Given the description of an element on the screen output the (x, y) to click on. 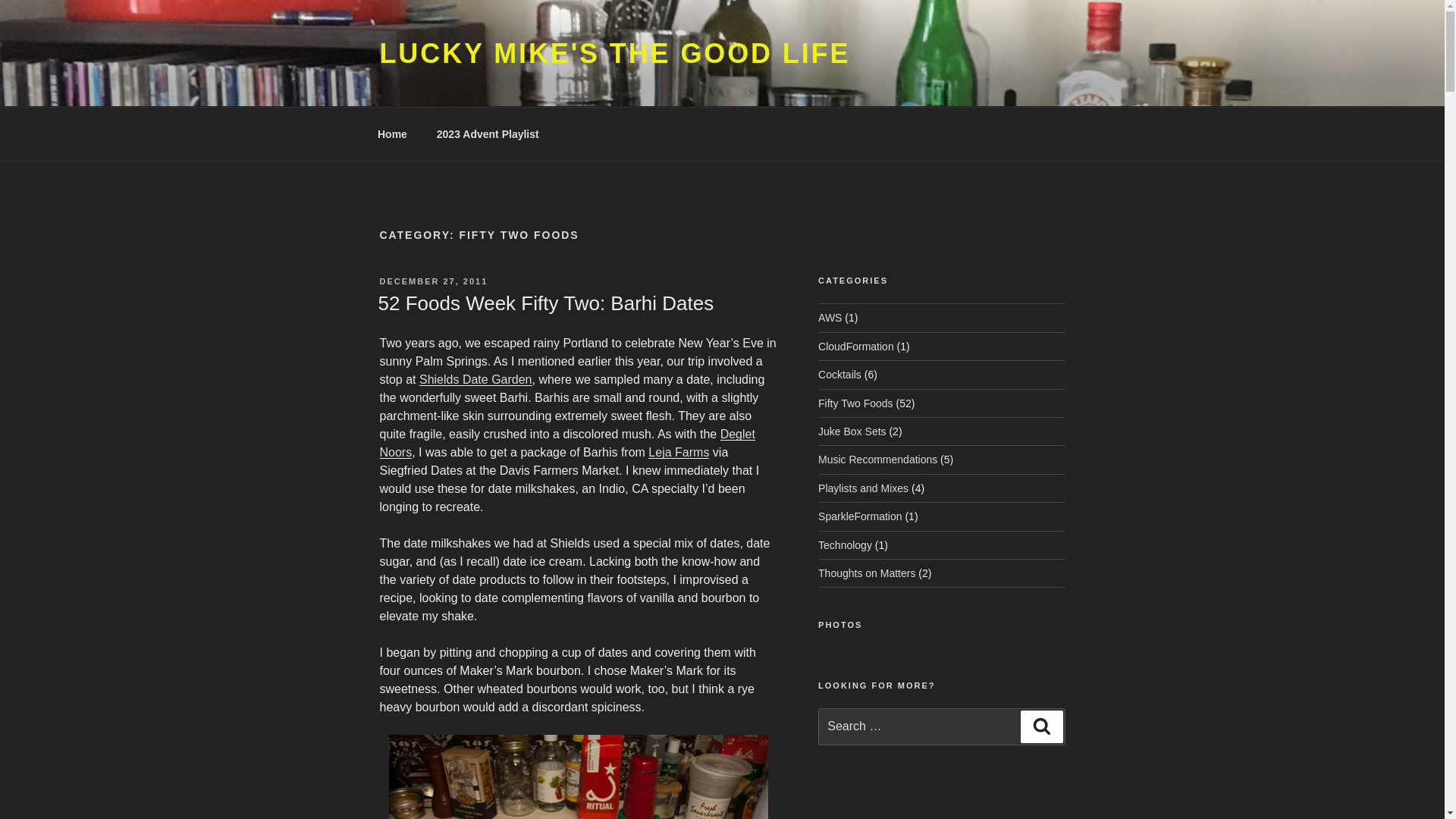
DECEMBER 27, 2011 (432, 280)
52 Foods Week Fifty Two: Barhi Dates (545, 302)
Leja Farms (678, 451)
Home (392, 133)
2023 Advent Playlist (487, 133)
Deglet Noors (566, 442)
Shields Date Garden (475, 379)
LUCKY MIKE'S THE GOOD LIFE (614, 52)
